Given the description of an element on the screen output the (x, y) to click on. 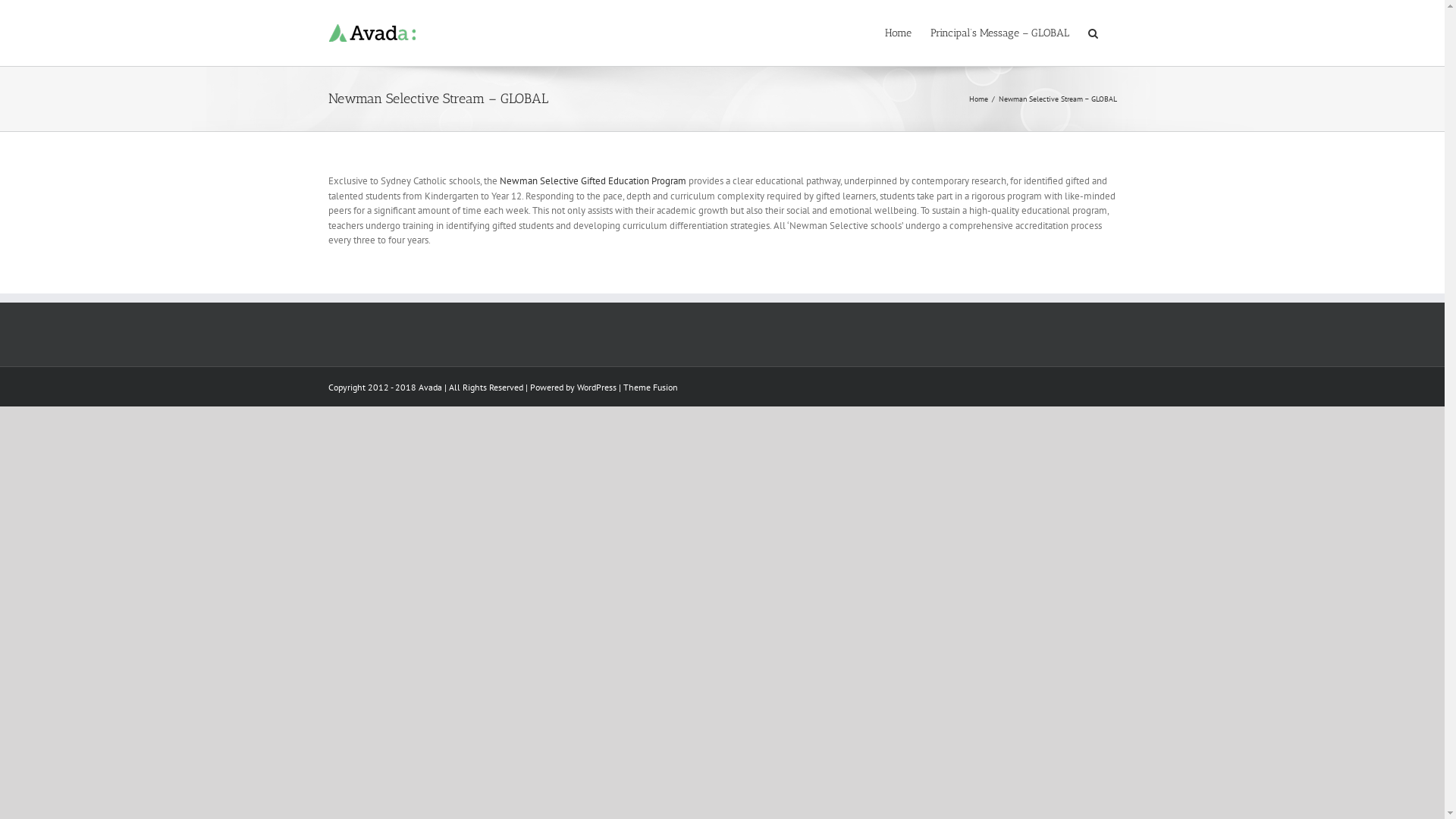
Home Element type: text (978, 98)
WordPress Element type: text (595, 386)
Newman Selective Gifted Education Program Element type: text (591, 180)
Home Element type: text (897, 31)
Theme Fusion Element type: text (650, 386)
Search Element type: hover (1092, 31)
